Given the description of an element on the screen output the (x, y) to click on. 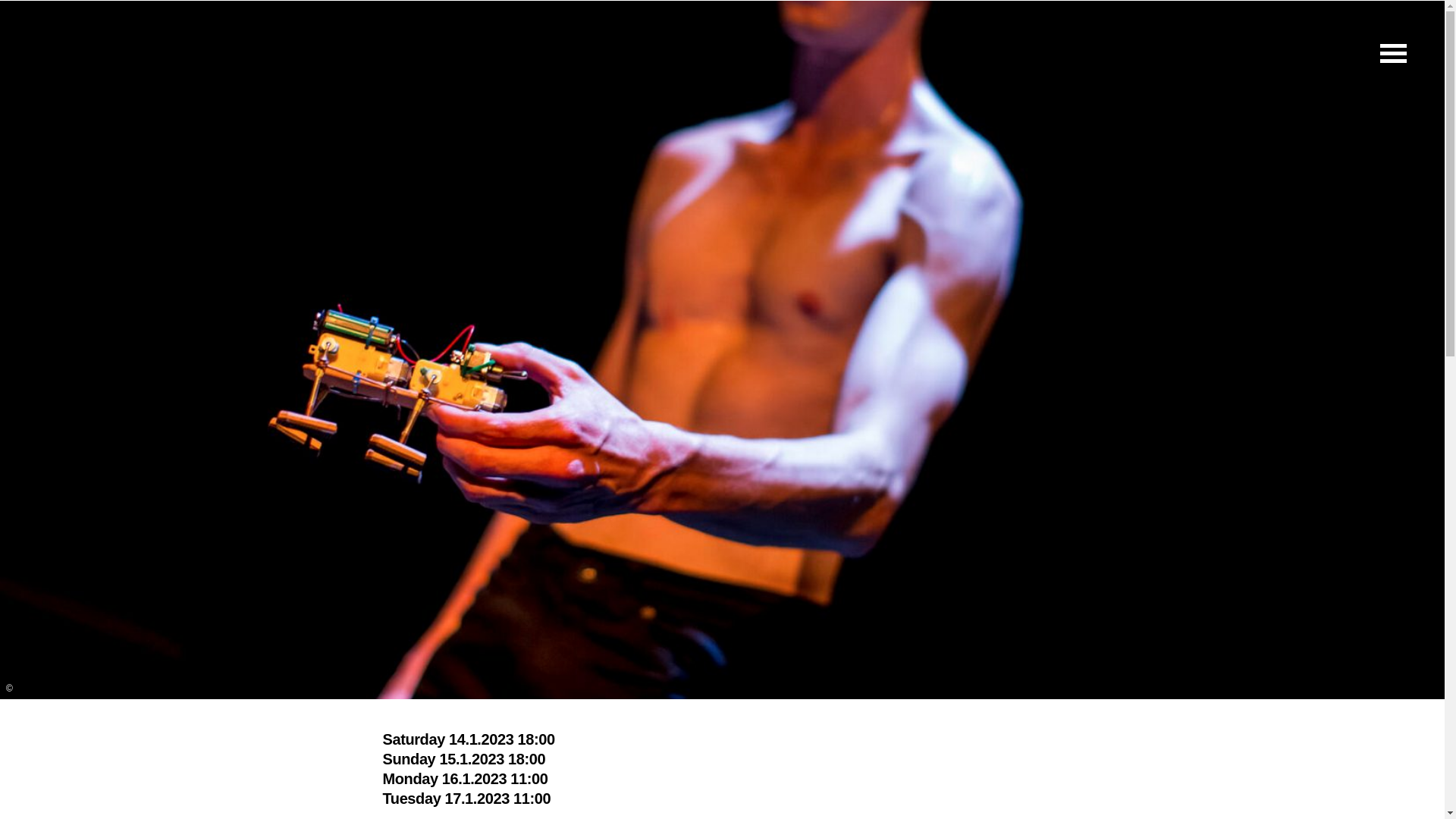
Toggle Navigation (1393, 52)
Navigation (1393, 52)
